Given the description of an element on the screen output the (x, y) to click on. 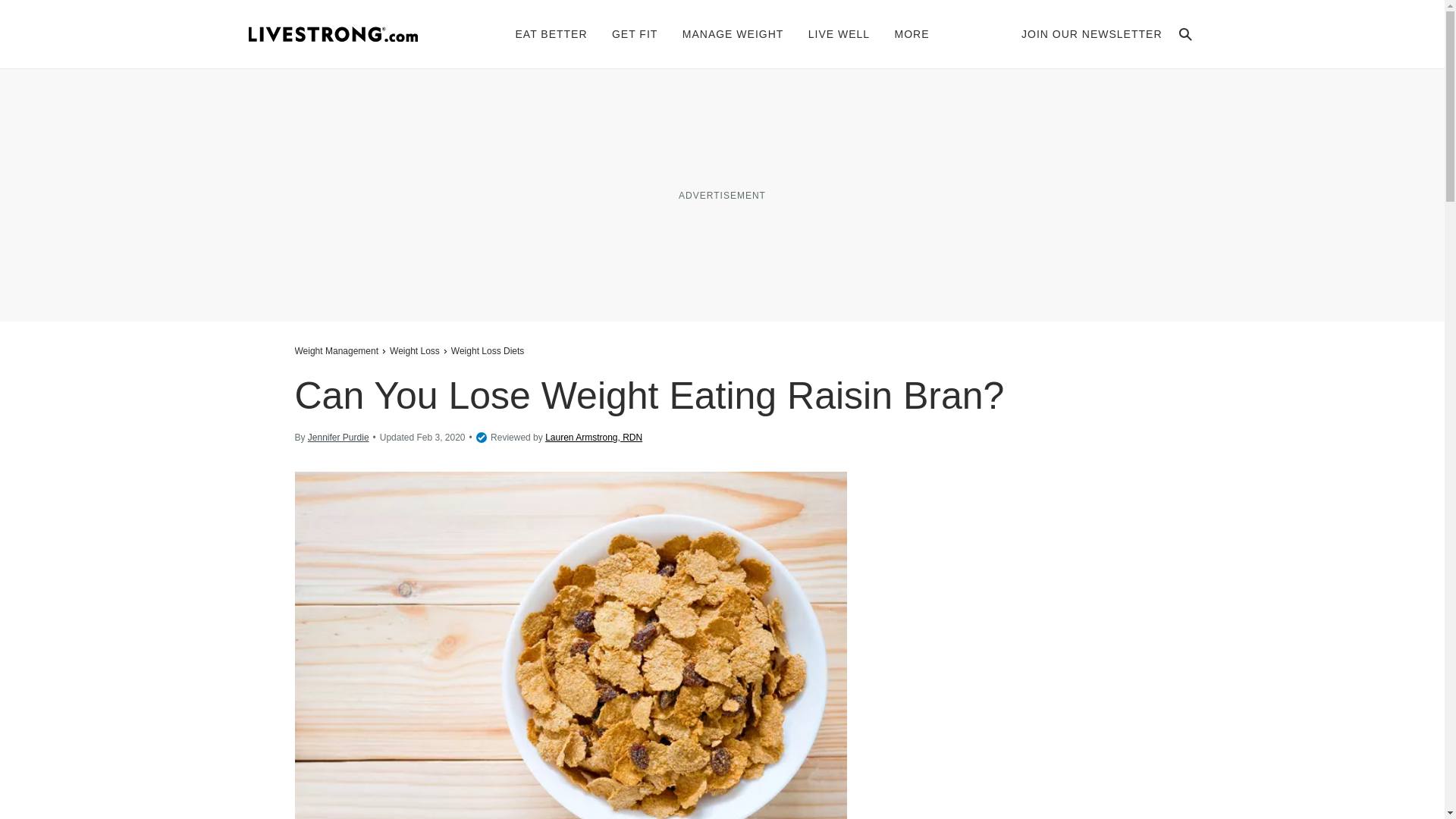
Jennifer Purdie (338, 437)
LIVE WELL (838, 33)
Lauren Armstrong, RDN (593, 437)
Weight Loss (414, 350)
GET FIT (634, 33)
EAT BETTER (551, 33)
Weight Loss Diets (487, 350)
JOIN OUR NEWSLETTER (1091, 33)
Weight Management (337, 350)
MANAGE WEIGHT (733, 33)
